Given the description of an element on the screen output the (x, y) to click on. 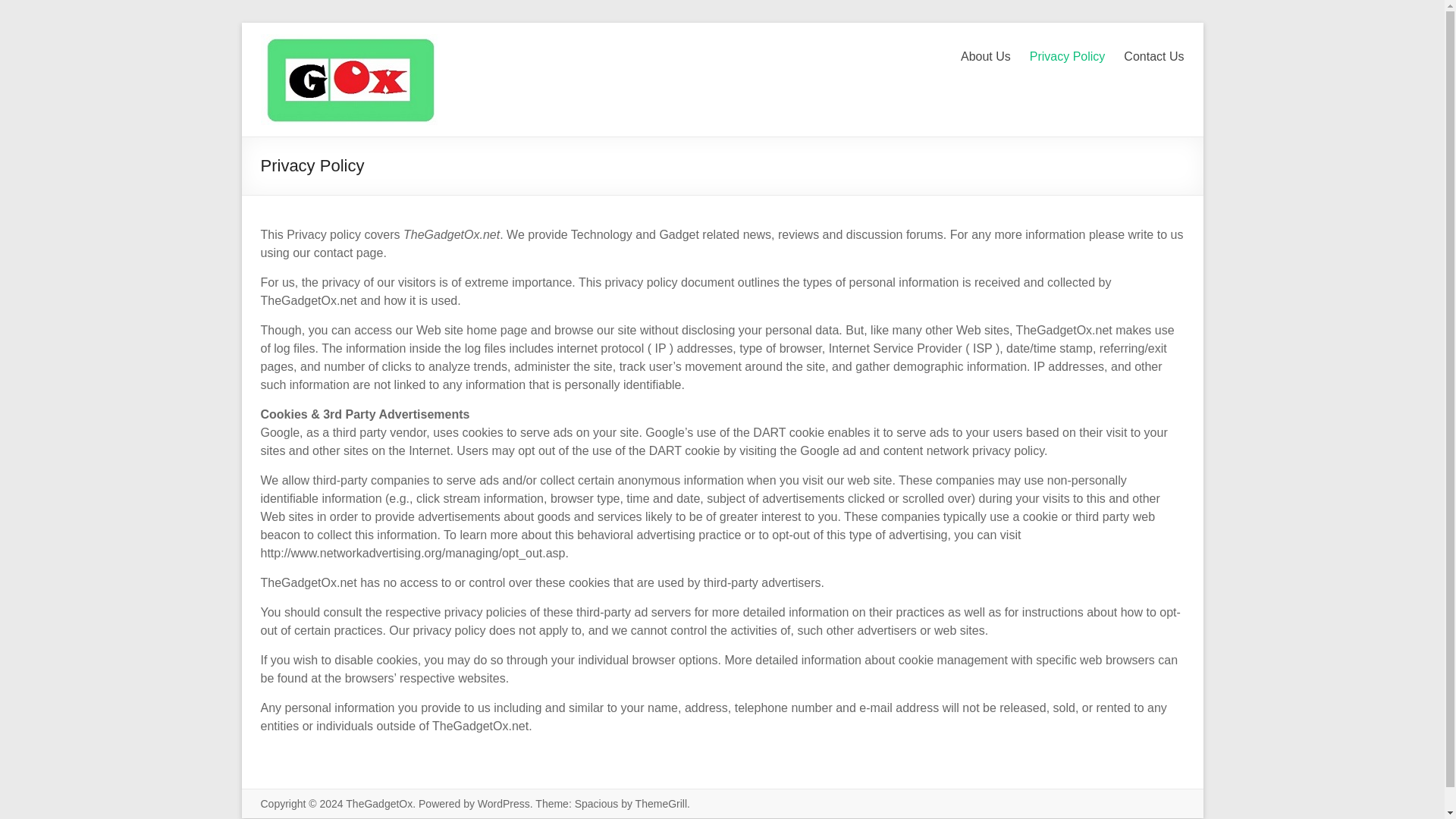
Contact Us (1153, 60)
Privacy Policy (1067, 60)
About Us (985, 60)
